Given the description of an element on the screen output the (x, y) to click on. 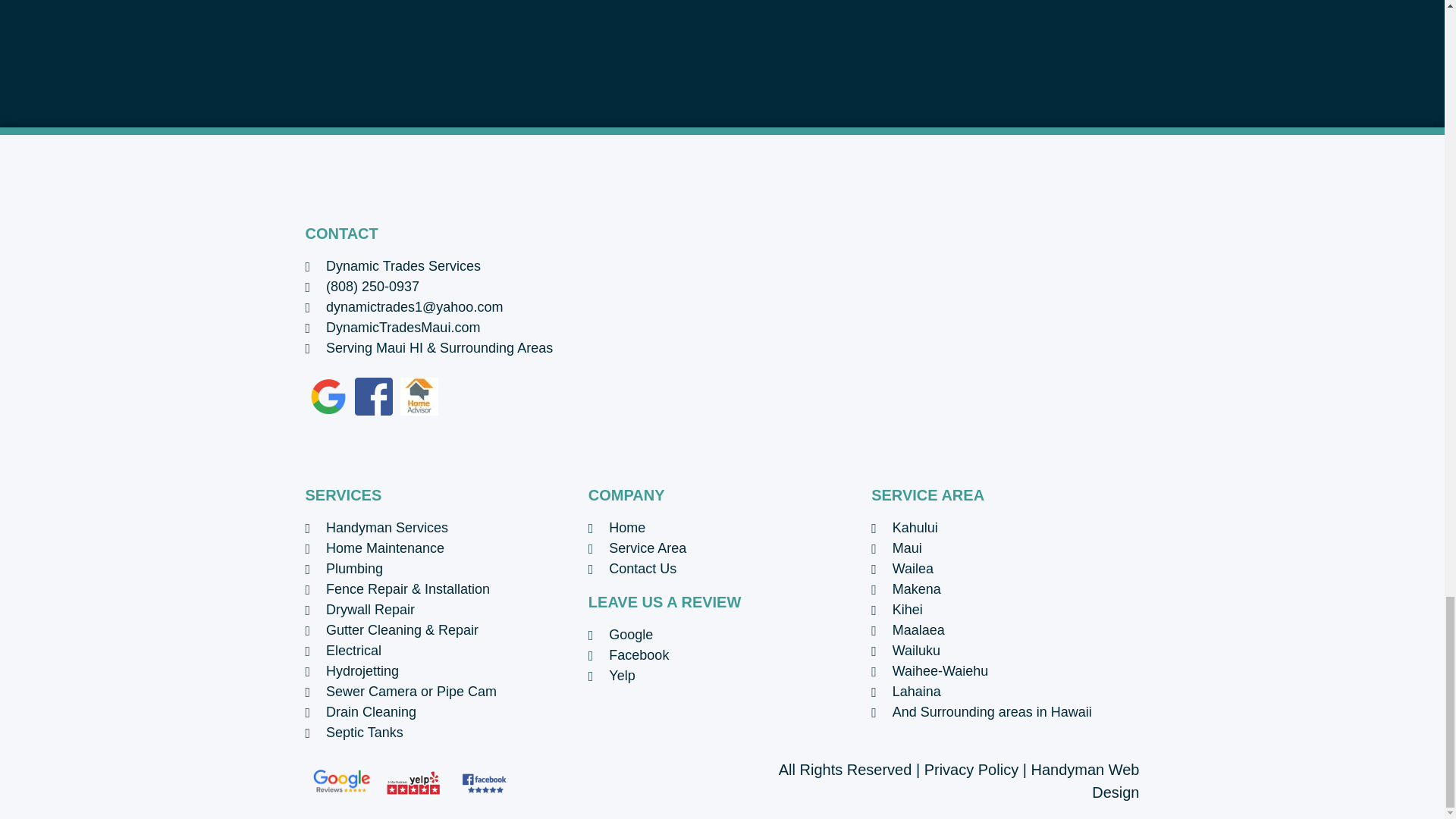
dynamic trades services hawaii (933, 339)
facebook.png (374, 396)
google.png (327, 396)
